Given the description of an element on the screen output the (x, y) to click on. 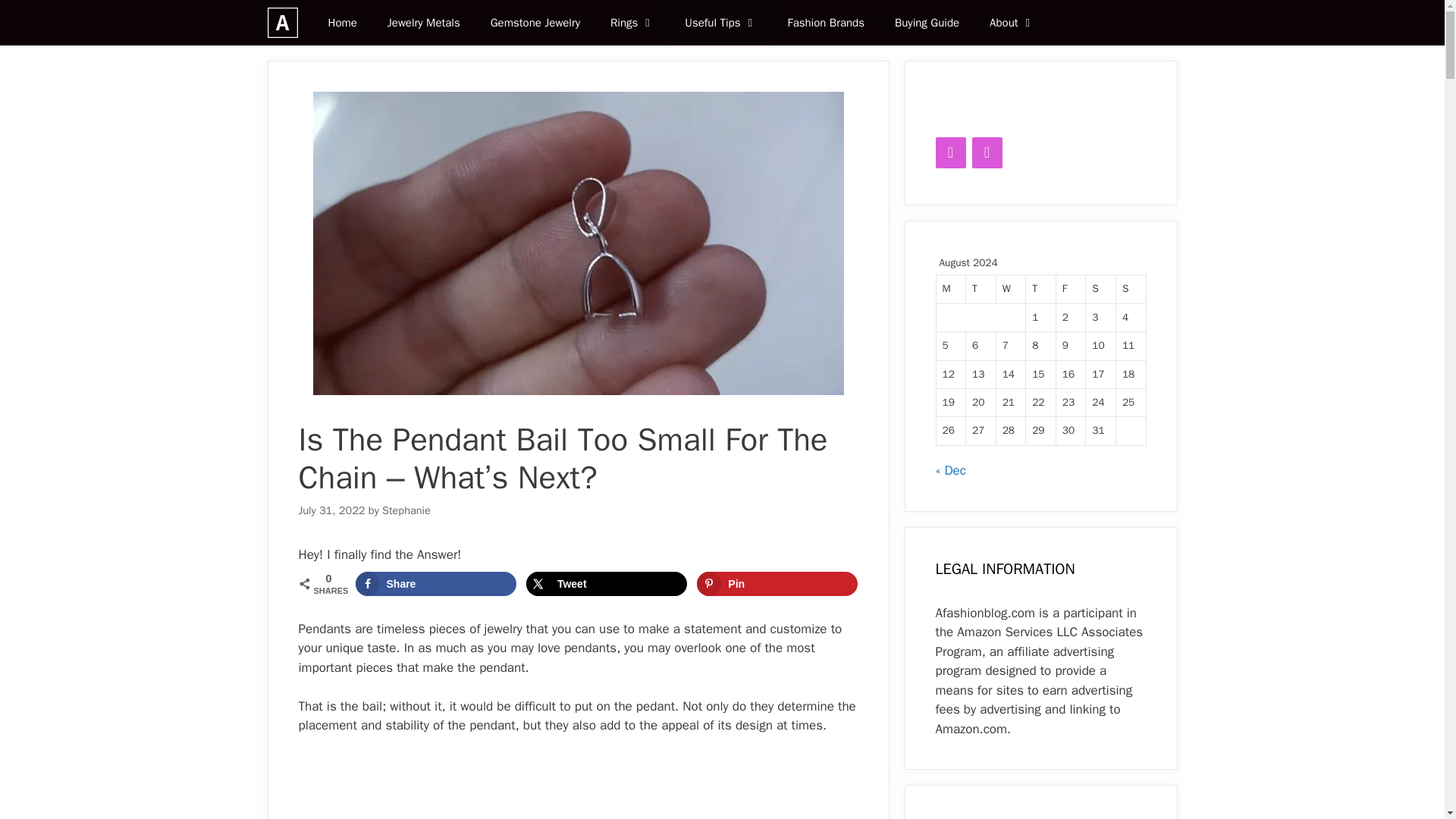
Gemstone Jewelry (535, 22)
Home (342, 22)
Stephanie (405, 509)
Share on X (606, 583)
Rings (632, 22)
Share (435, 583)
Buying Guide (926, 22)
Share on Facebook (435, 583)
About (1011, 22)
Jewelry Metals (424, 22)
